Given the description of an element on the screen output the (x, y) to click on. 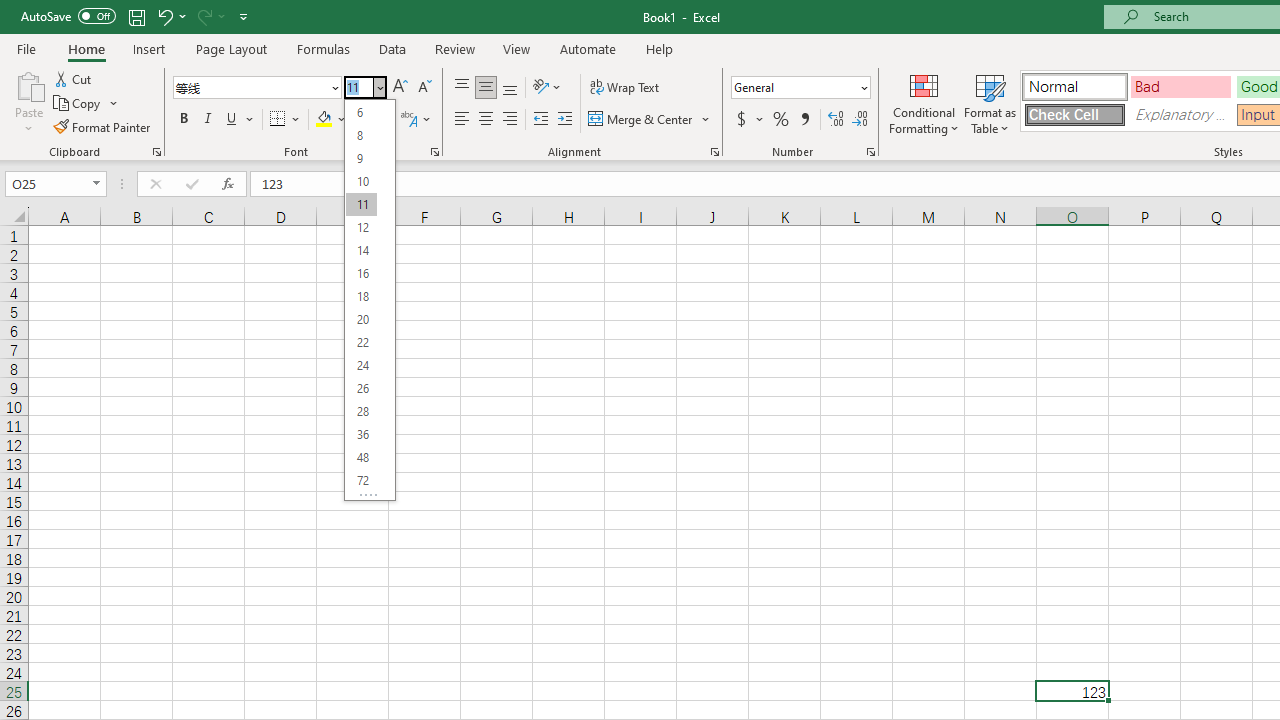
Increase Font Size (399, 87)
6 (361, 111)
Explanatory Text (1180, 114)
Font (250, 87)
Format Cell Number (870, 151)
8 (361, 134)
Copy (85, 103)
Format Painter (103, 126)
